Given the description of an element on the screen output the (x, y) to click on. 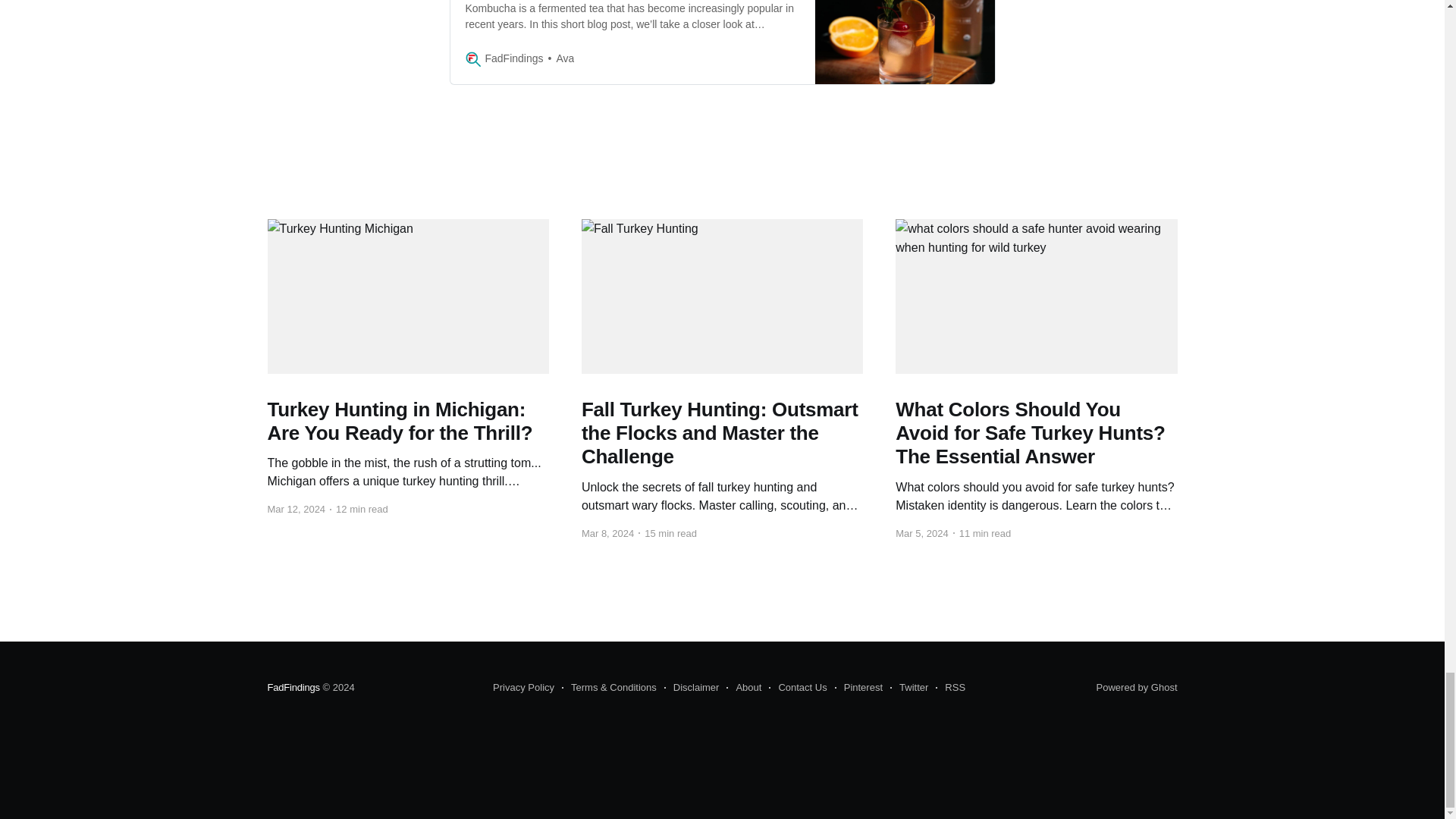
Privacy Policy (523, 687)
FadFindings (292, 686)
Contact Us (797, 687)
RSS (950, 687)
Twitter (908, 687)
Powered by Ghost (1136, 686)
About (743, 687)
Disclaimer (691, 687)
Pinterest (858, 687)
